Given the description of an element on the screen output the (x, y) to click on. 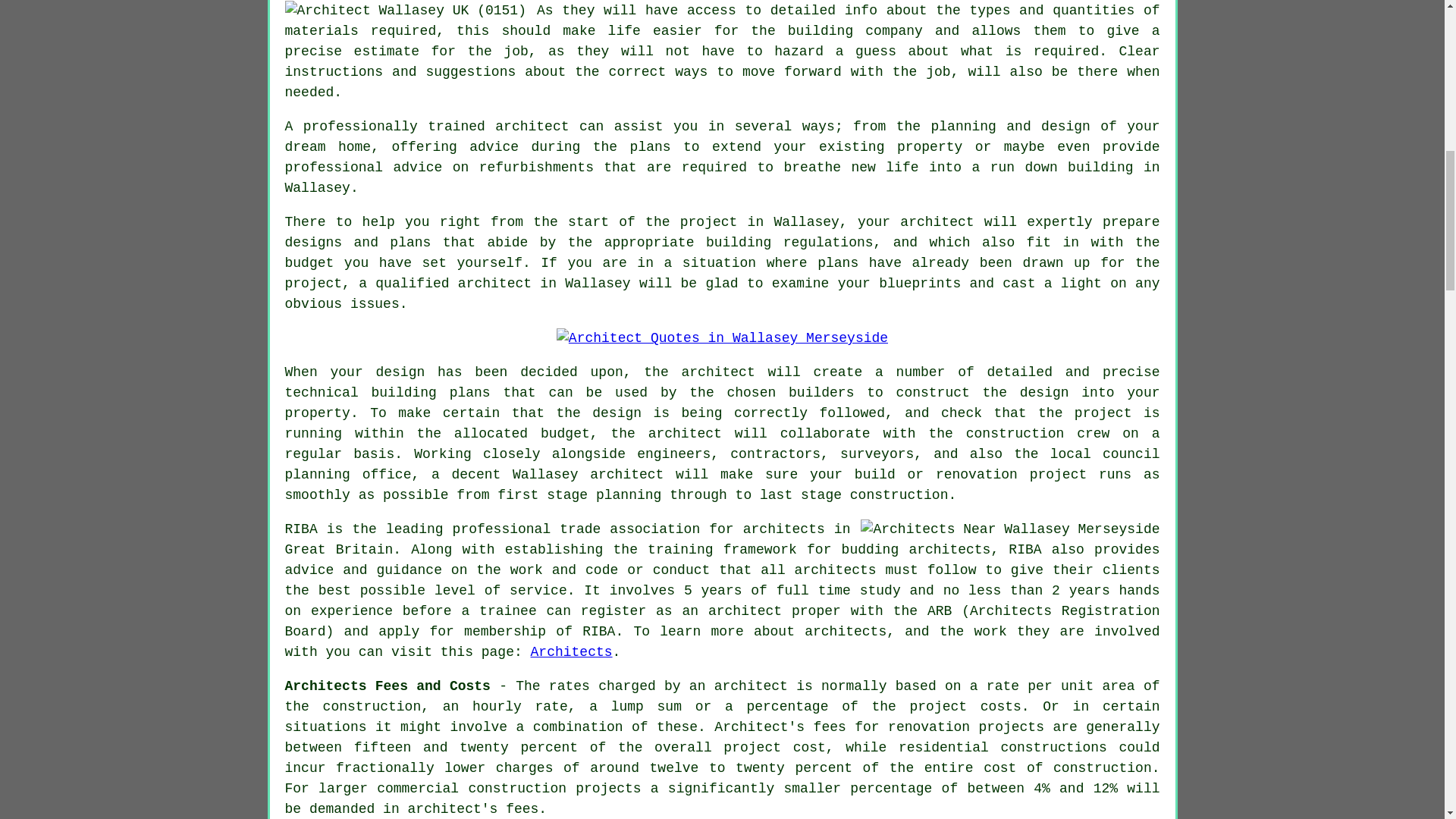
architect's fees (472, 808)
Architect Quotes in Wallasey Merseyside (722, 338)
architects (783, 529)
Architects Near Wallasey Merseyside (1009, 529)
design (1044, 392)
architect (532, 126)
materials (321, 30)
planning (317, 474)
